Given the description of an element on the screen output the (x, y) to click on. 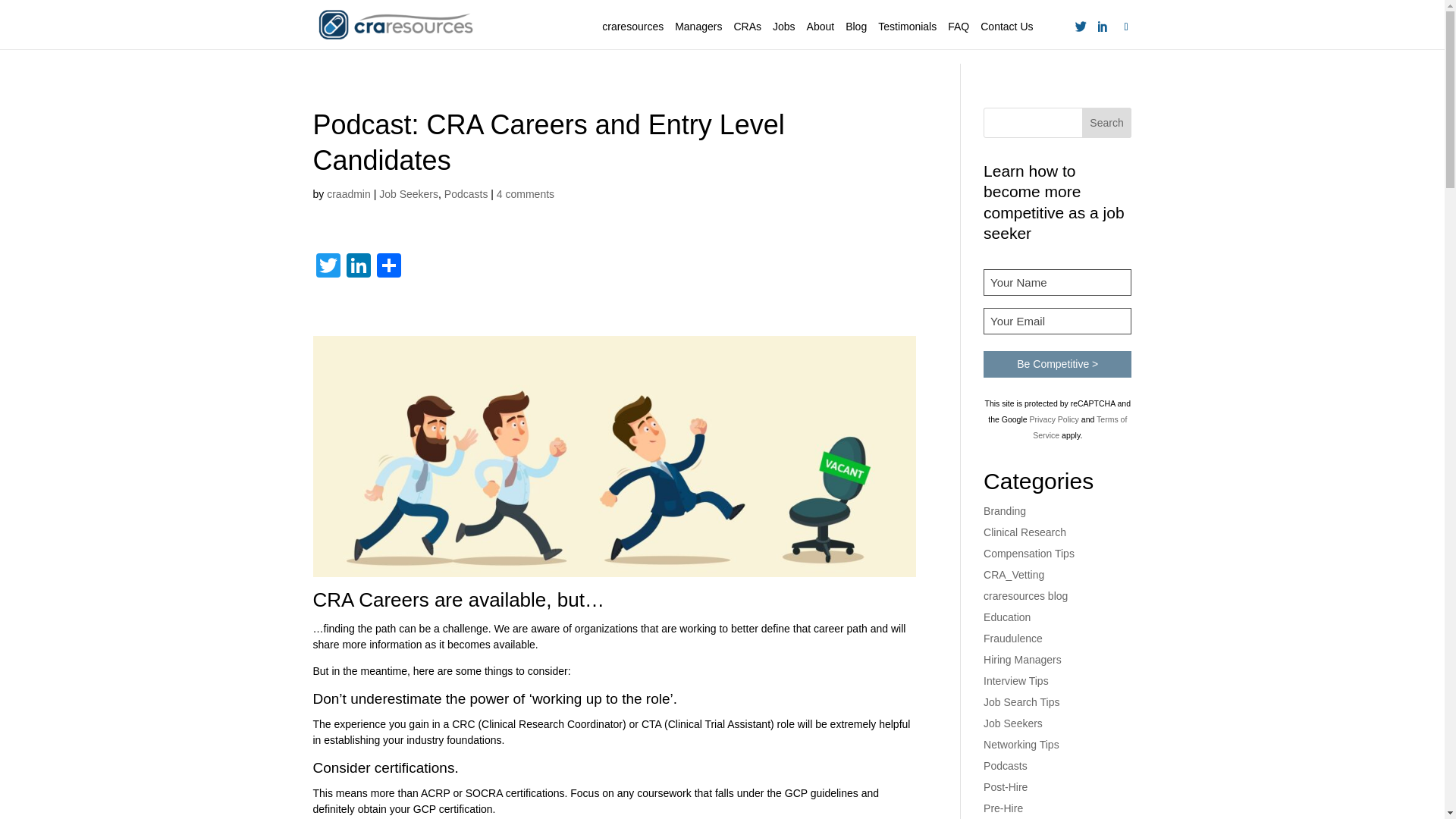
LinkedIn (357, 267)
Twitter (327, 267)
Podcasts (465, 193)
craresources (632, 27)
Contact Us (1005, 27)
Search (1106, 122)
Managers (698, 27)
Share (387, 267)
craadmin (348, 193)
Jobs (783, 27)
FAQ (958, 27)
Posts by craadmin (348, 193)
CRAs (747, 27)
About (820, 27)
Job Seekers (408, 193)
